Given the description of an element on the screen output the (x, y) to click on. 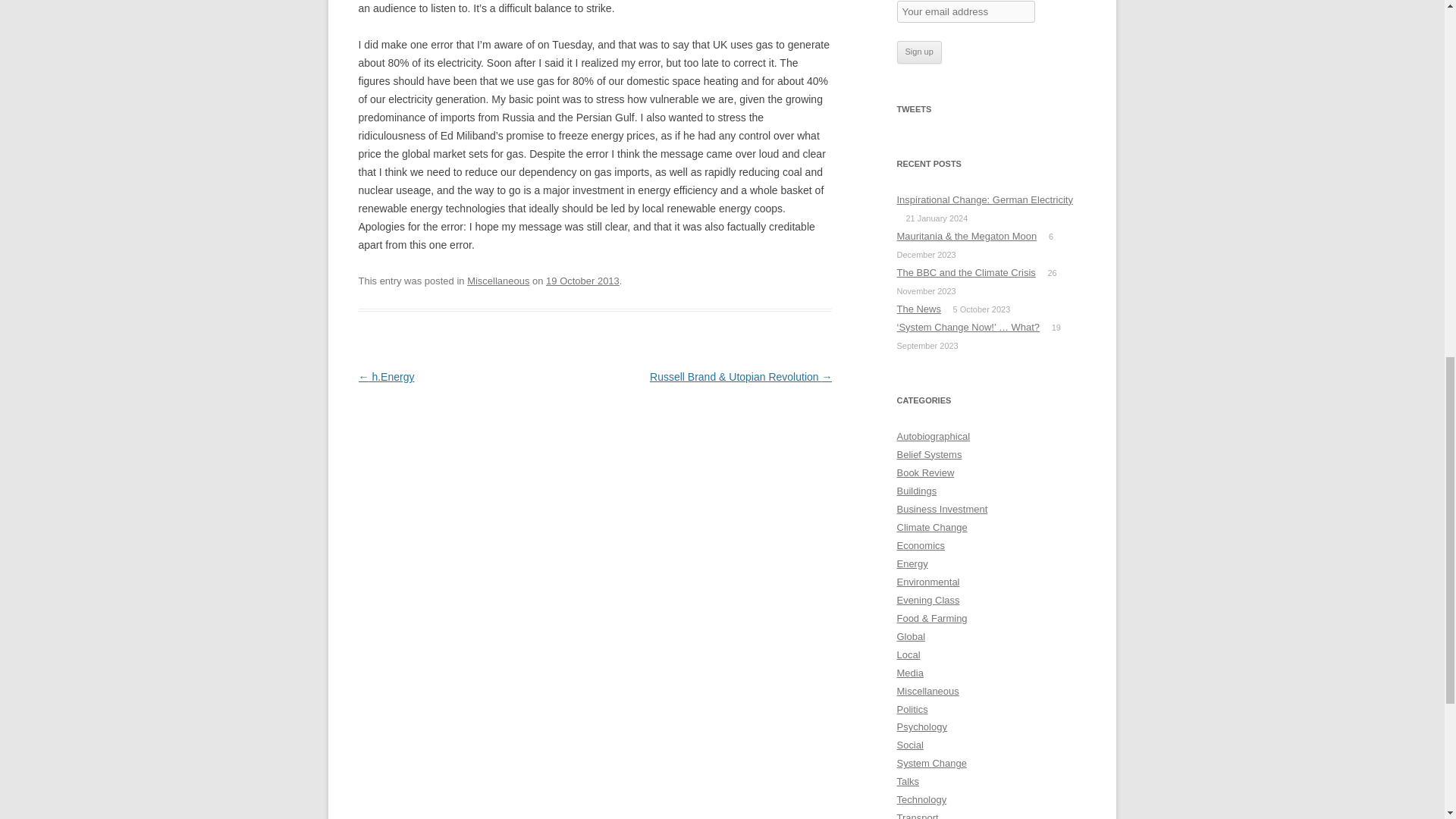
Climate Change (931, 527)
Sign up (918, 51)
Miscellaneous (927, 690)
Global (910, 636)
Media (909, 672)
Environmental (927, 582)
Sign up (918, 51)
Inspirational Change: German Electricity (983, 199)
Economics (920, 545)
The News (918, 308)
